Given the description of an element on the screen output the (x, y) to click on. 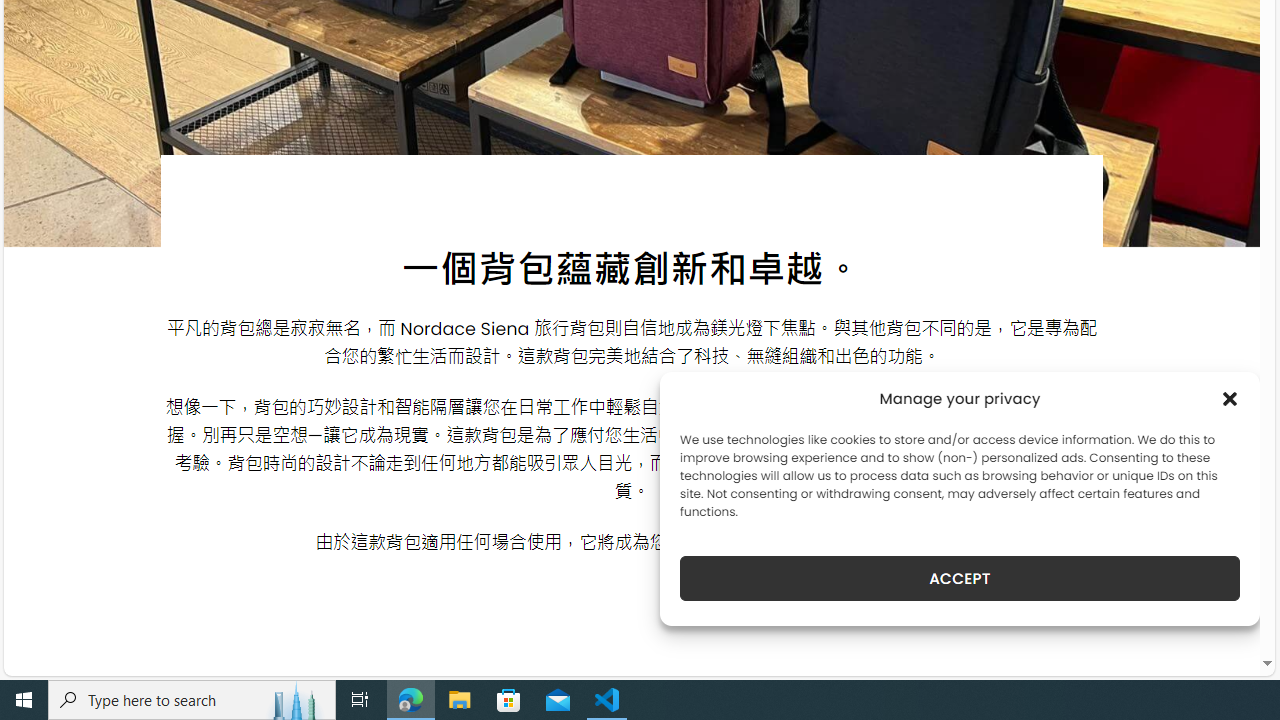
Class: cmplz-close (1229, 398)
ACCEPT (959, 578)
